Given the description of an element on the screen output the (x, y) to click on. 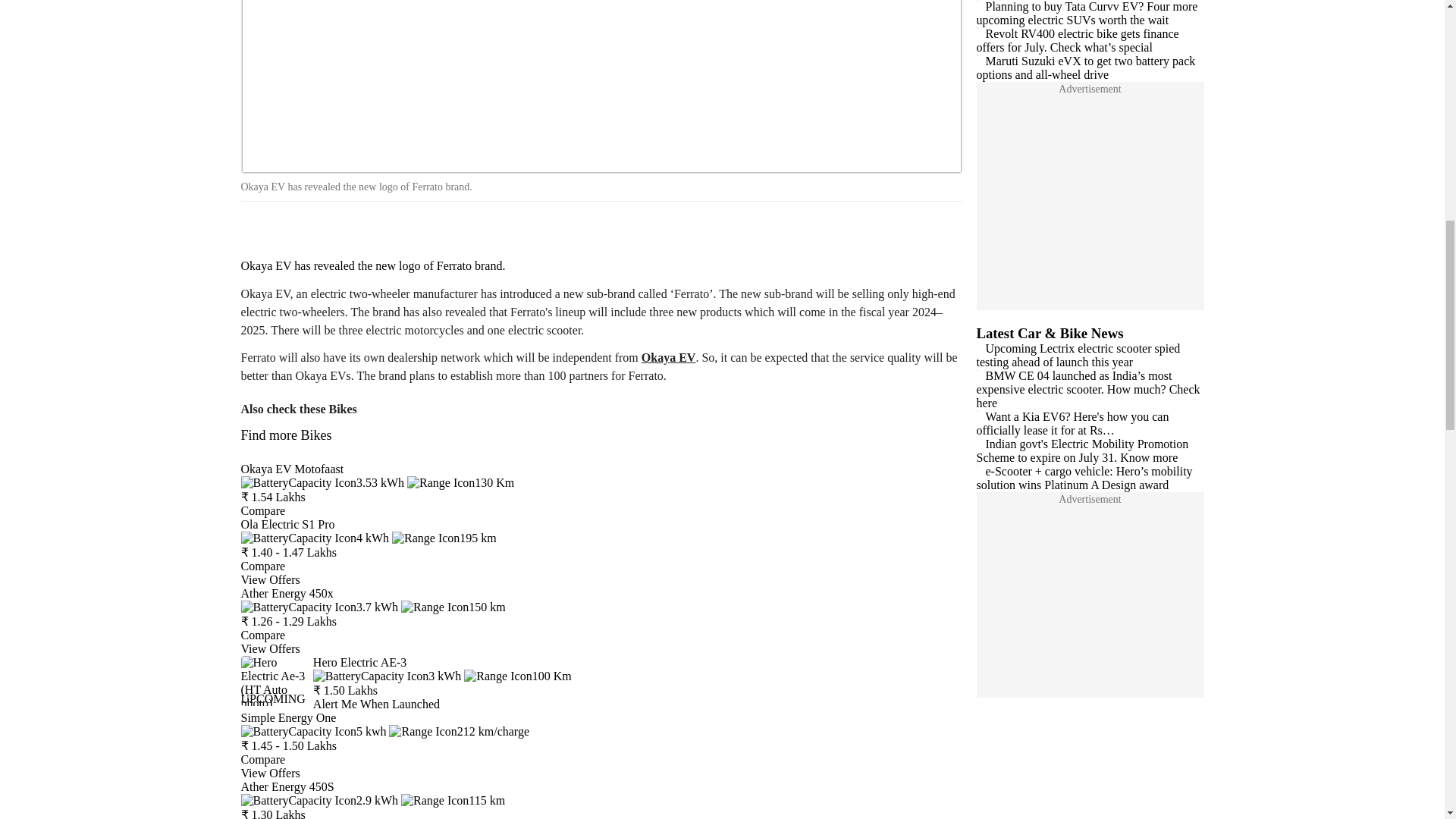
BatteryCapacity (387, 675)
Range (443, 537)
Range (460, 481)
BatteryCapacity (314, 730)
Facebook Share (258, 227)
BatteryCapacity (315, 537)
Range (453, 606)
Range (458, 730)
BatteryCapacity (319, 606)
Tweet (299, 227)
BatteryCapacity (322, 481)
Range (517, 675)
